Given the description of an element on the screen output the (x, y) to click on. 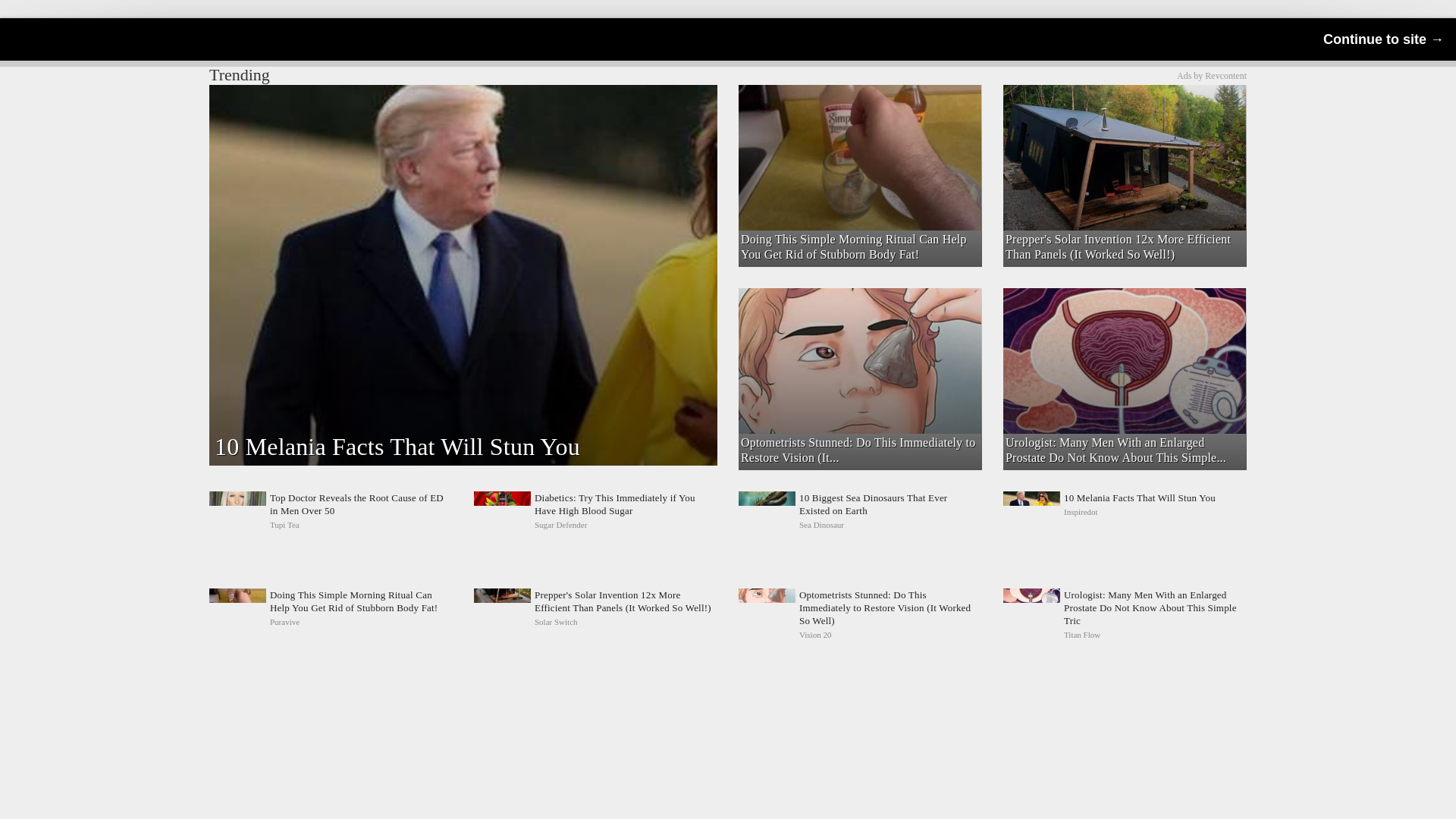
10 Biggest Sea Dinosaurs That Ever Existed on Earth (859, 510)
10 Melania Facts That Will Stun You (1124, 510)
BIDEN FACEPLANTS (1124, 510)
Ads by Revcontent (859, 111)
